Given the description of an element on the screen output the (x, y) to click on. 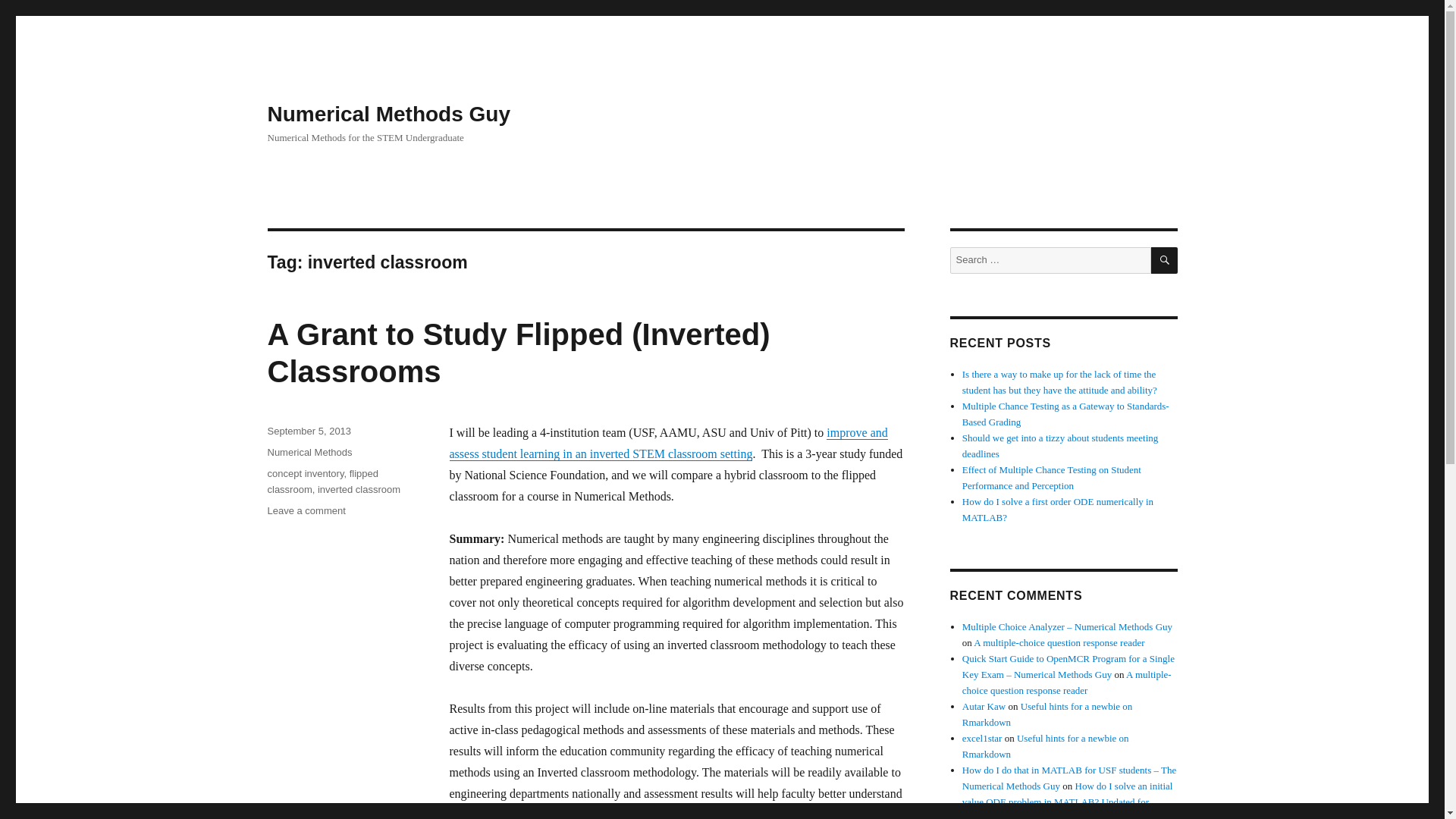
A multiple-choice question response reader (1067, 682)
flipped classroom (321, 481)
How do I solve a first order ODE numerically in MATLAB? (1057, 509)
concept inventory (304, 473)
A multiple-choice question response reader (1059, 642)
September 5, 2013 (308, 430)
excel1star (982, 737)
Useful hints for a newbie on Rmarkdown (1045, 746)
SEARCH (1164, 260)
Numerical Methods (309, 451)
Useful hints for a newbie on Rmarkdown (1047, 714)
Autar Kaw (984, 706)
